Given the description of an element on the screen output the (x, y) to click on. 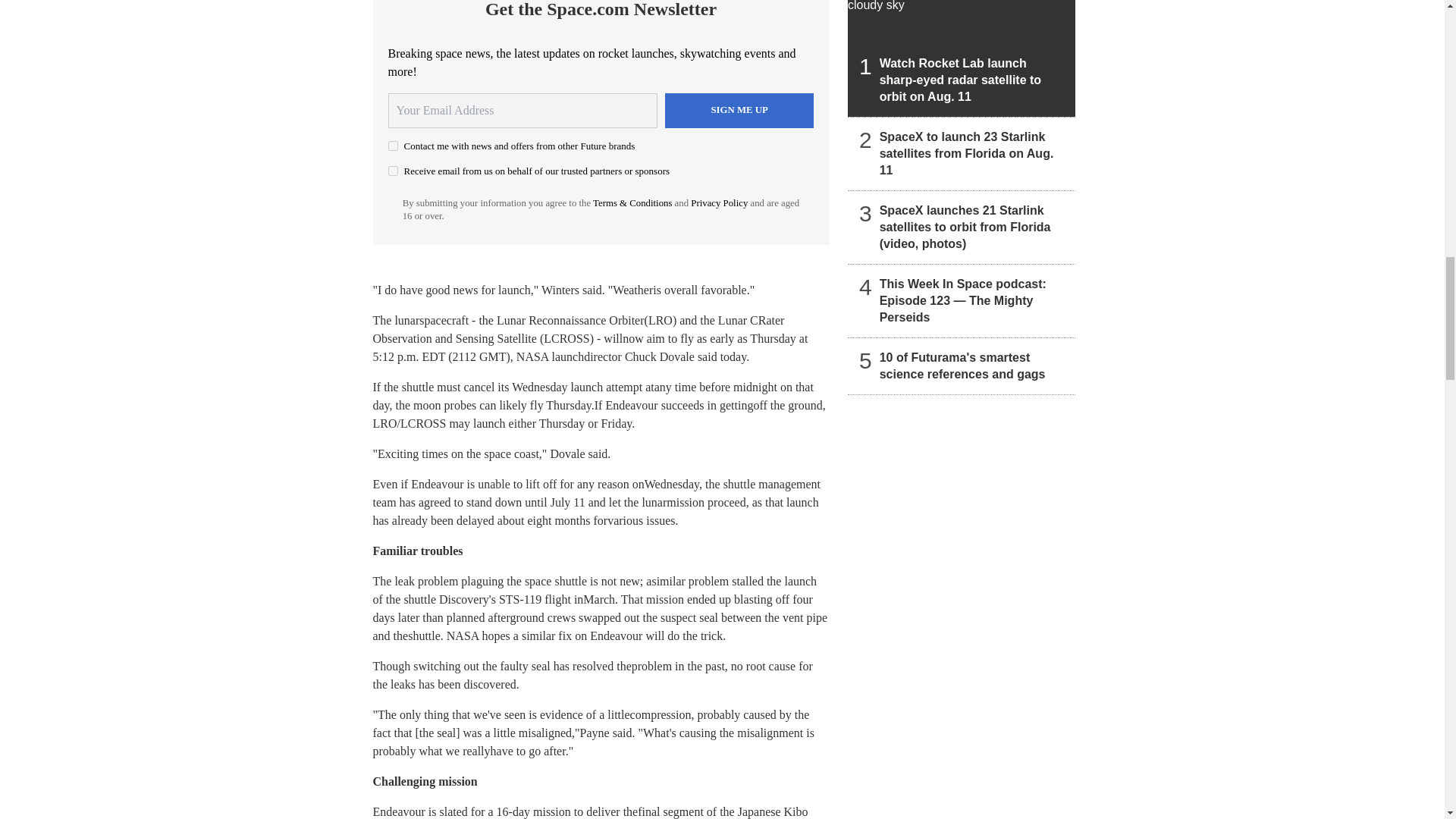
on (392, 171)
on (392, 145)
Sign me up (739, 110)
